Given the description of an element on the screen output the (x, y) to click on. 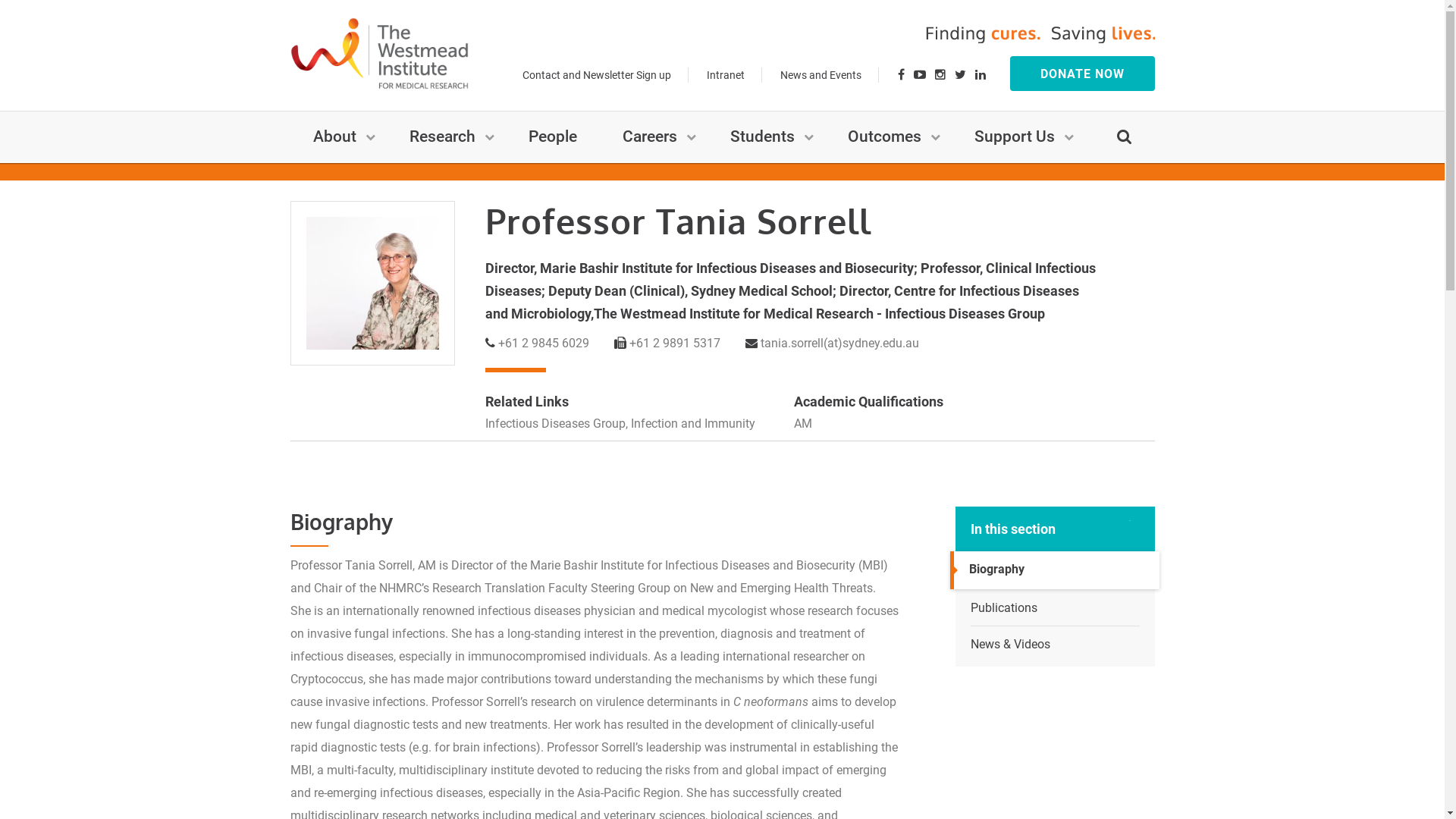
Biography Element type: text (1056, 569)
, Infection and Immunity Element type: text (689, 423)
News and Events Element type: text (820, 74)
Careers Element type: text (652, 133)
Outcomes Element type: text (888, 133)
Professor Tania Sorrell Element type: text (583, 174)
 Home Element type: text (310, 172)
People Element type: text (351, 174)
Researcher Profiles Search Element type: text (449, 174)
Publications Element type: text (1054, 607)
News & Videos Element type: text (1054, 644)
YouTube Element type: text (919, 75)
LinkedIn Element type: text (979, 75)
Infectious Diseases Group Element type: text (555, 423)
Contact and Newsletter Sign up Element type: text (596, 74)
Students Element type: text (765, 133)
Twitter Element type: text (959, 75)
Support Us Element type: text (1017, 133)
Intranet Element type: text (724, 74)
About Element type: text (337, 133)
Facebook Element type: text (900, 75)
Research Element type: text (445, 133)
Instagram Element type: text (940, 75)
DONATE NOW Element type: text (1082, 73)
tania.sorrell(at)sydney.edu.au Element type: text (838, 342)
Westmead Institute logo Element type: hover (378, 53)
People Element type: text (552, 133)
